Given the description of an element on the screen output the (x, y) to click on. 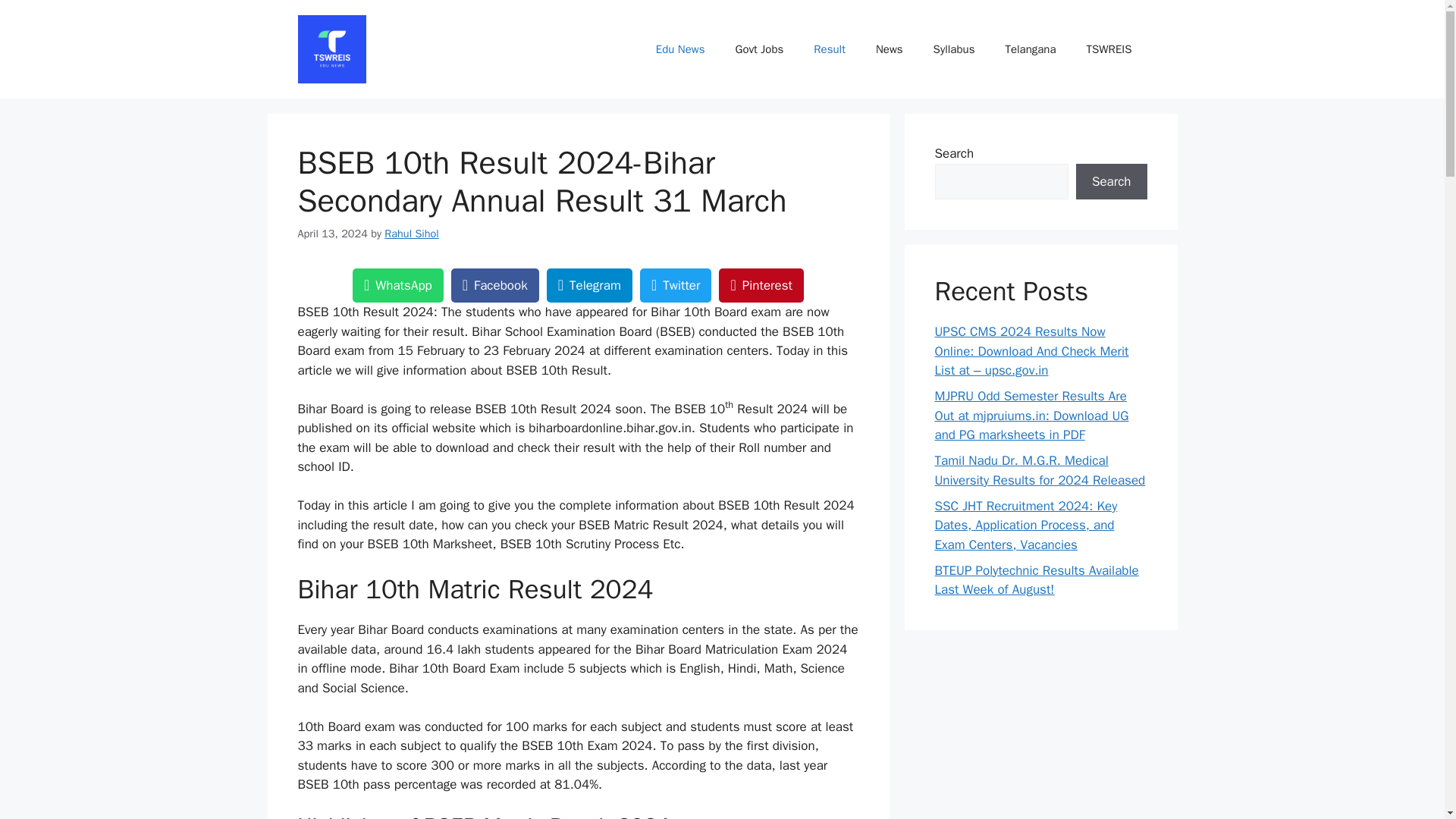
Twitter (675, 285)
Search (1111, 181)
News (889, 49)
Telegram (589, 285)
Result (828, 49)
Govt Jobs (759, 49)
Edu News (680, 49)
Facebook (494, 285)
Telangana (1030, 49)
Pinterest (761, 285)
View all posts by Rahul Sihol (411, 233)
BTEUP Polytechnic Results Available Last Week of August! (1036, 580)
Rahul Sihol (411, 233)
